Given the description of an element on the screen output the (x, y) to click on. 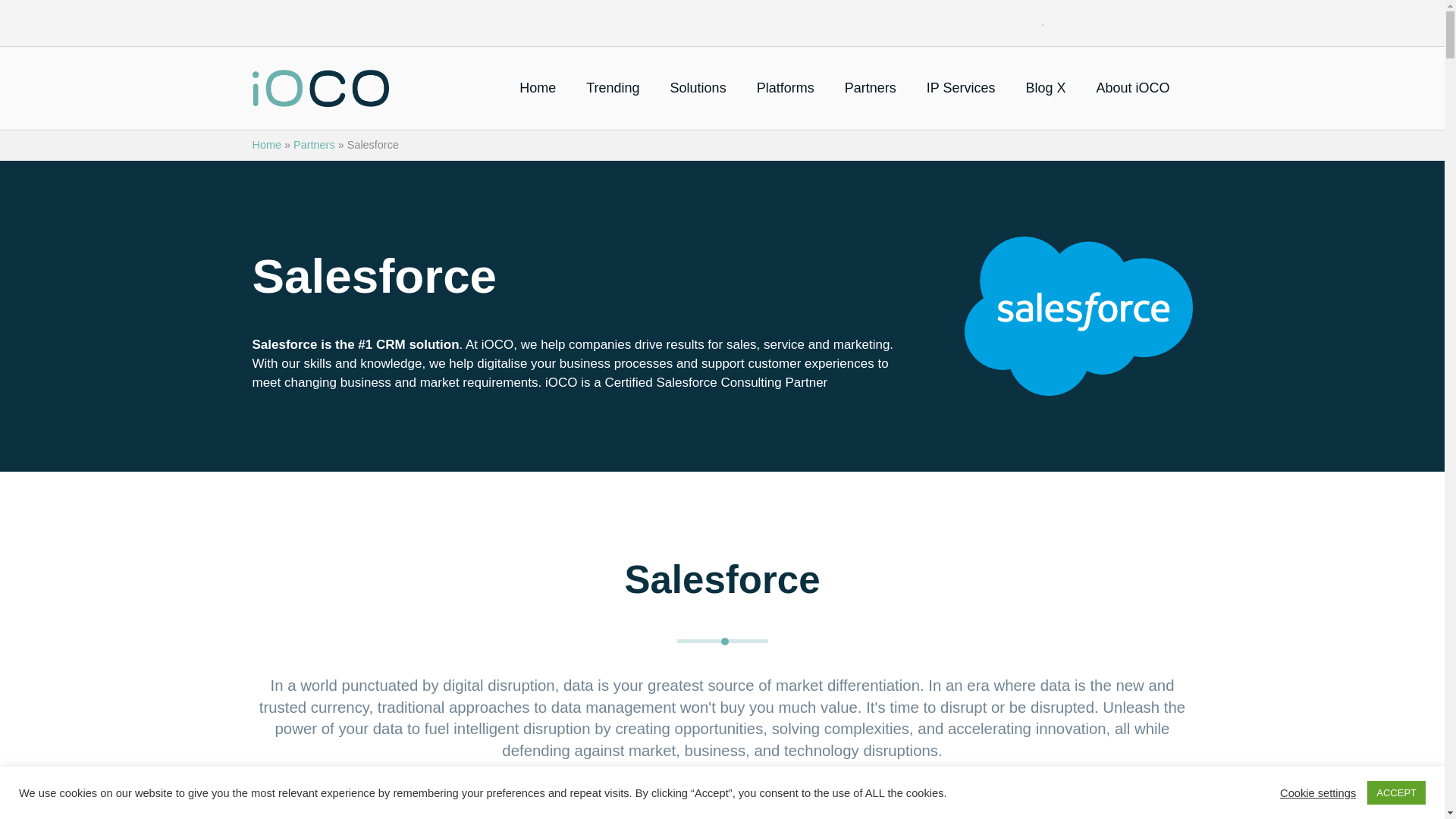
Home (537, 87)
Home (266, 144)
Partners (870, 87)
Platforms (785, 87)
IP Services (960, 87)
Home (319, 87)
Partners (314, 144)
Blog X (1045, 87)
Solutions (697, 87)
Download Brochure (722, 801)
